Given the description of an element on the screen output the (x, y) to click on. 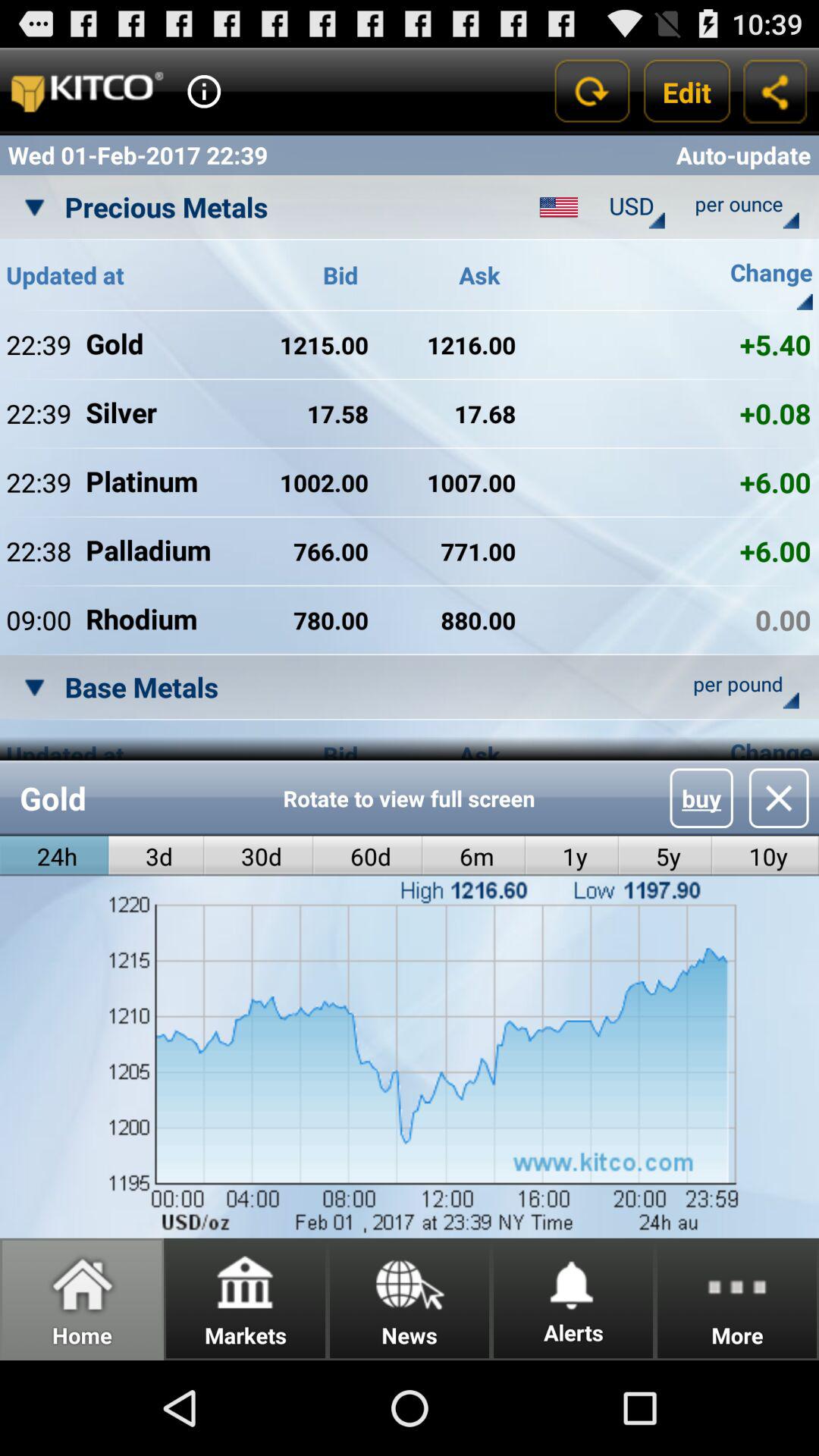
close the window (778, 798)
